Given the description of an element on the screen output the (x, y) to click on. 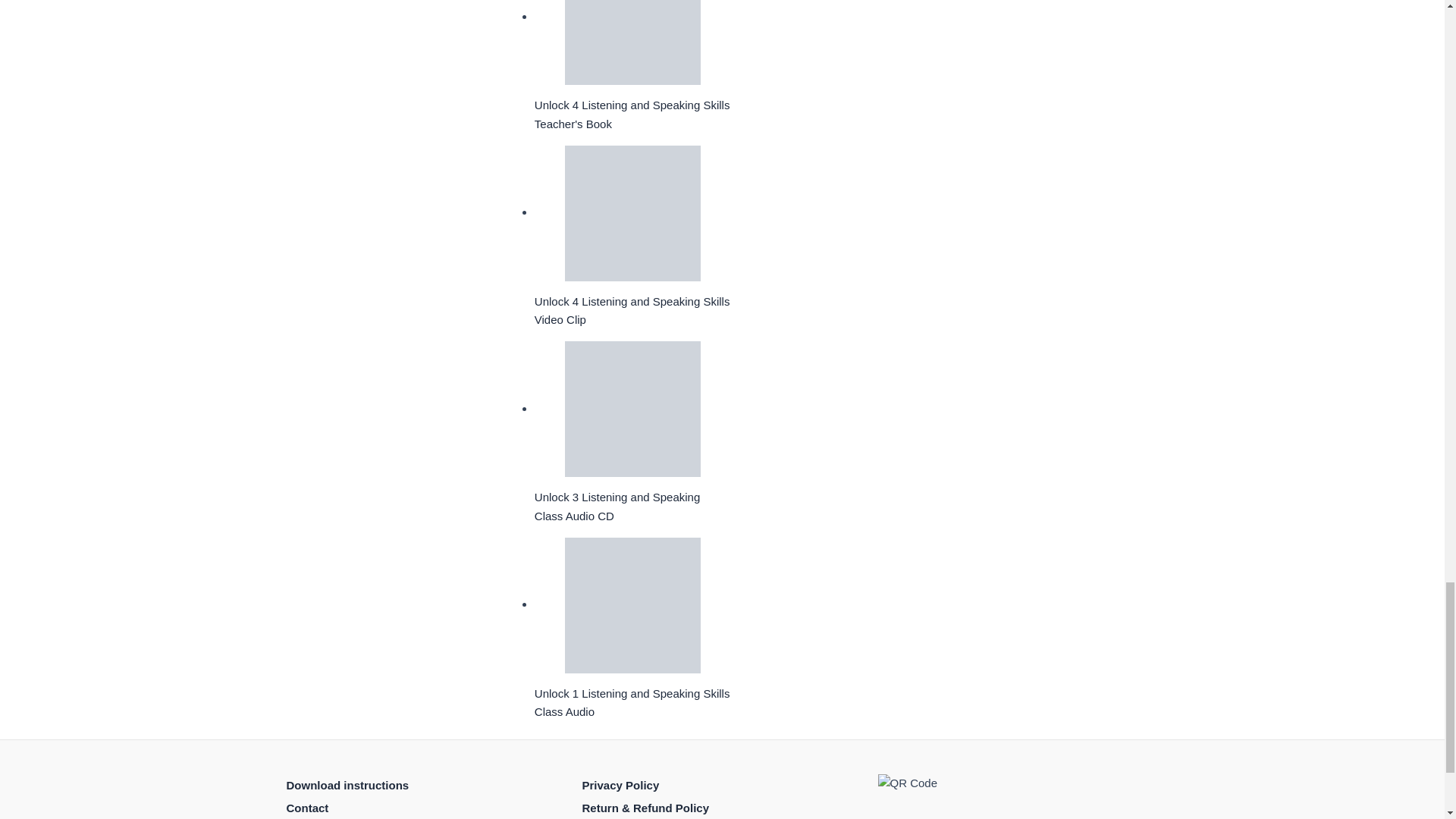
Unlock 1 Listening and Speaking Skills Class Audio (632, 605)
Unlock 4 Listening and Speaking Skills Video Clip (632, 213)
Unlock 3 Listening and Speaking Class Audio CD (632, 408)
Unlock 4 Listening and Speaking Skills Teacher's Book (632, 42)
